Given the description of an element on the screen output the (x, y) to click on. 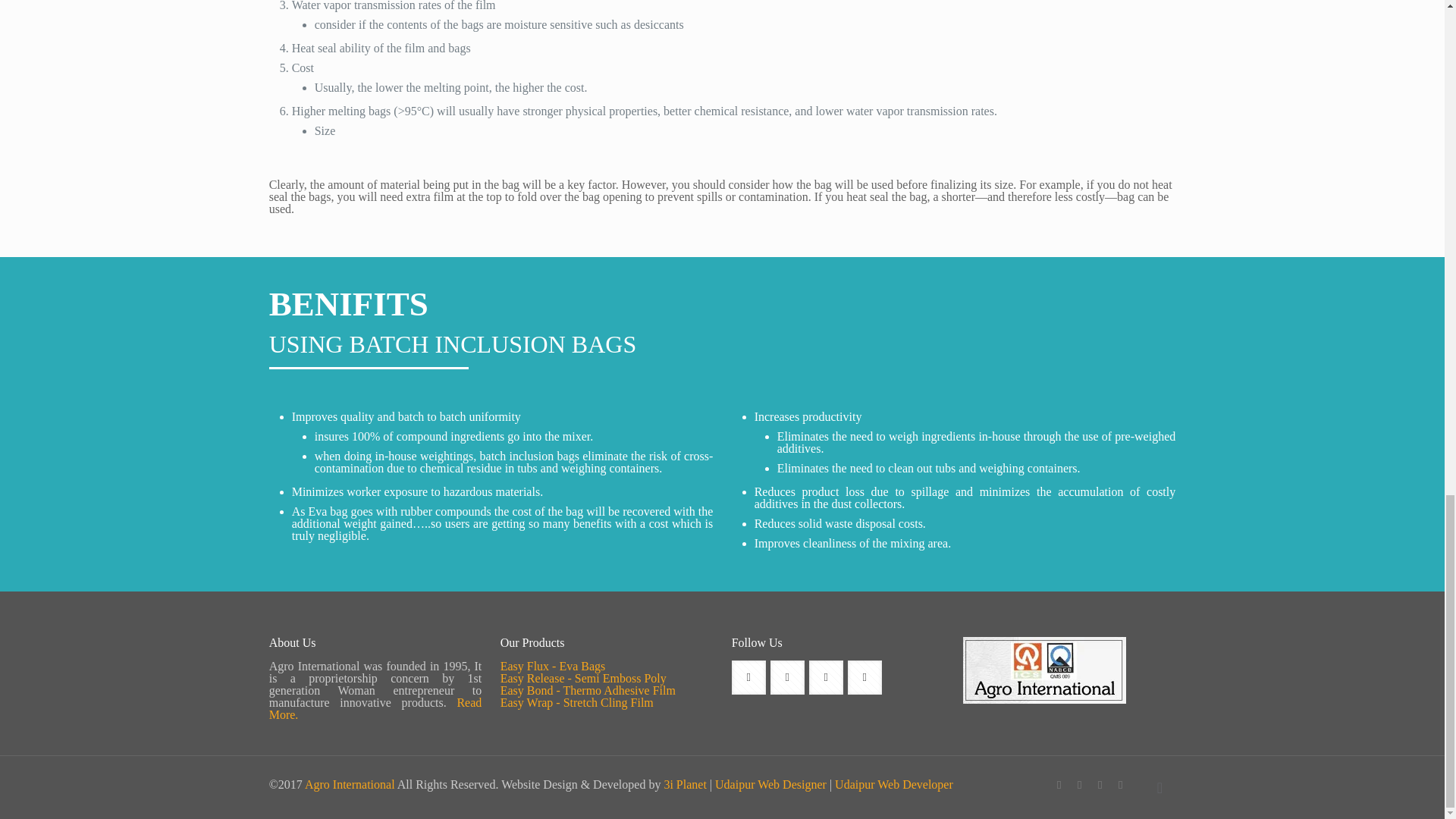
Udaipur Web Developer (893, 784)
Udaipur Web Designer (770, 784)
Easy Bond - Thermo Adhesive Film (587, 689)
Pinterest (1120, 784)
Easy Wrap - Stretch Cling Film (576, 702)
Read More. (375, 708)
Twitter (1079, 784)
Agro International (349, 784)
Easy Flux - Eva Bags (552, 666)
YouTube (1100, 784)
